Given the description of an element on the screen output the (x, y) to click on. 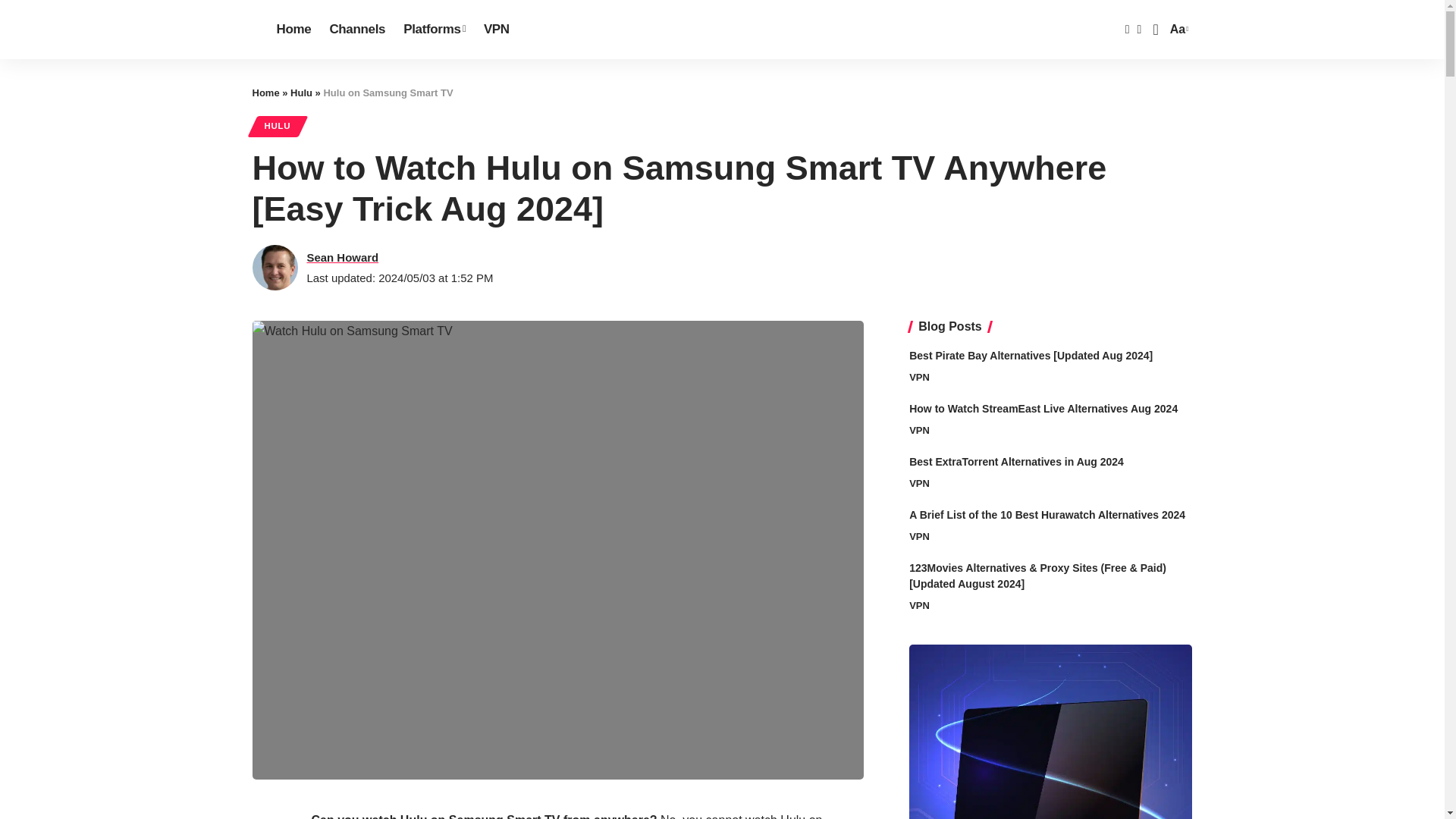
HULU (276, 125)
Home (265, 92)
Channels (357, 29)
Hulu (1177, 28)
VPN (301, 92)
Sean Howard (496, 29)
Platforms (341, 257)
Home (434, 29)
